Given the description of an element on the screen output the (x, y) to click on. 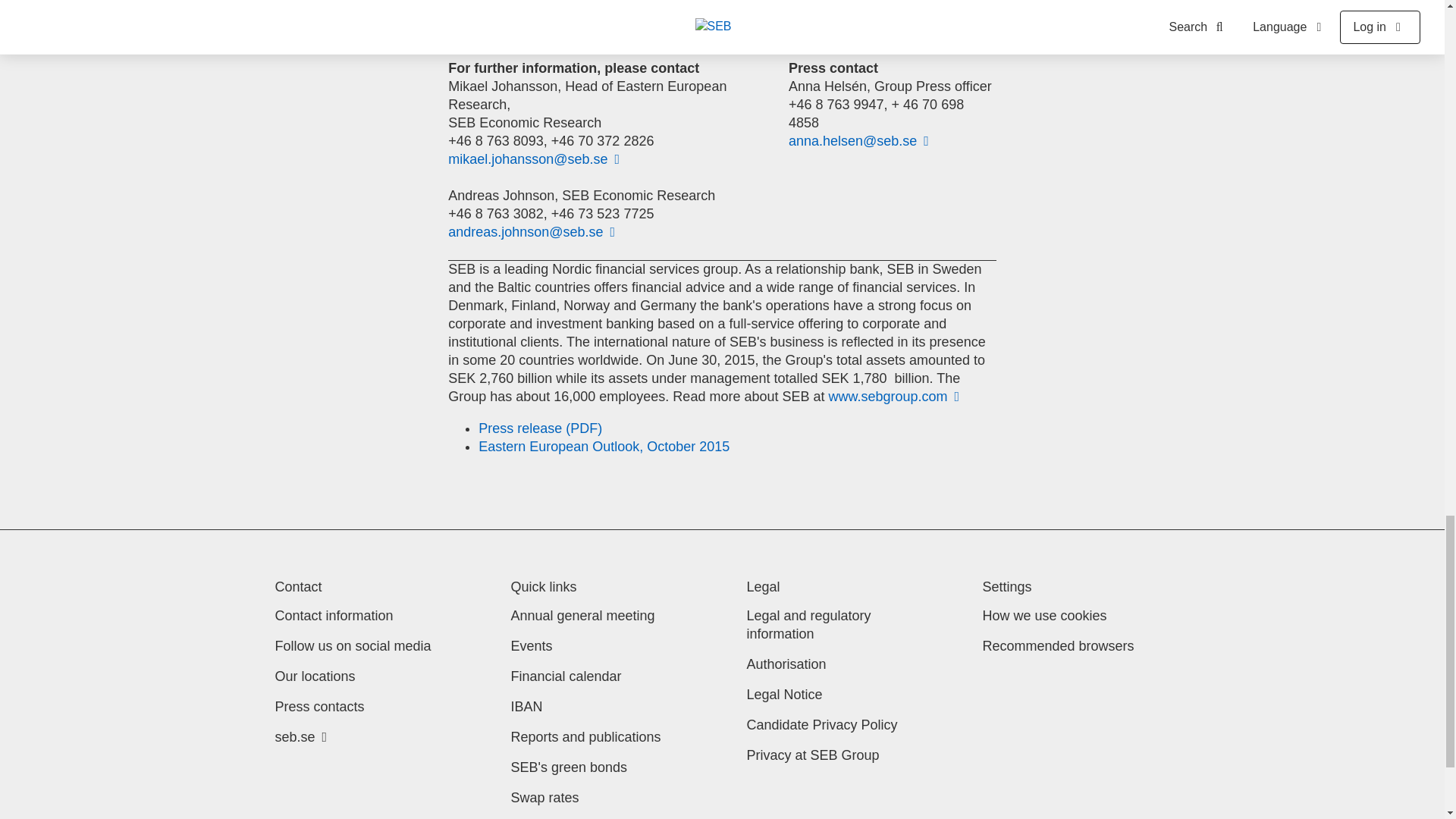
Events (532, 645)
seb.se (300, 736)
Swap rates (545, 797)
seb.se (300, 736)
Financial calendar (566, 676)
www.sebgroup.com (893, 396)
SEB's green bonds (569, 767)
IBAN (527, 706)
Eastern European Outlook, October 2015 (604, 446)
Press contacts (319, 706)
